Given the description of an element on the screen output the (x, y) to click on. 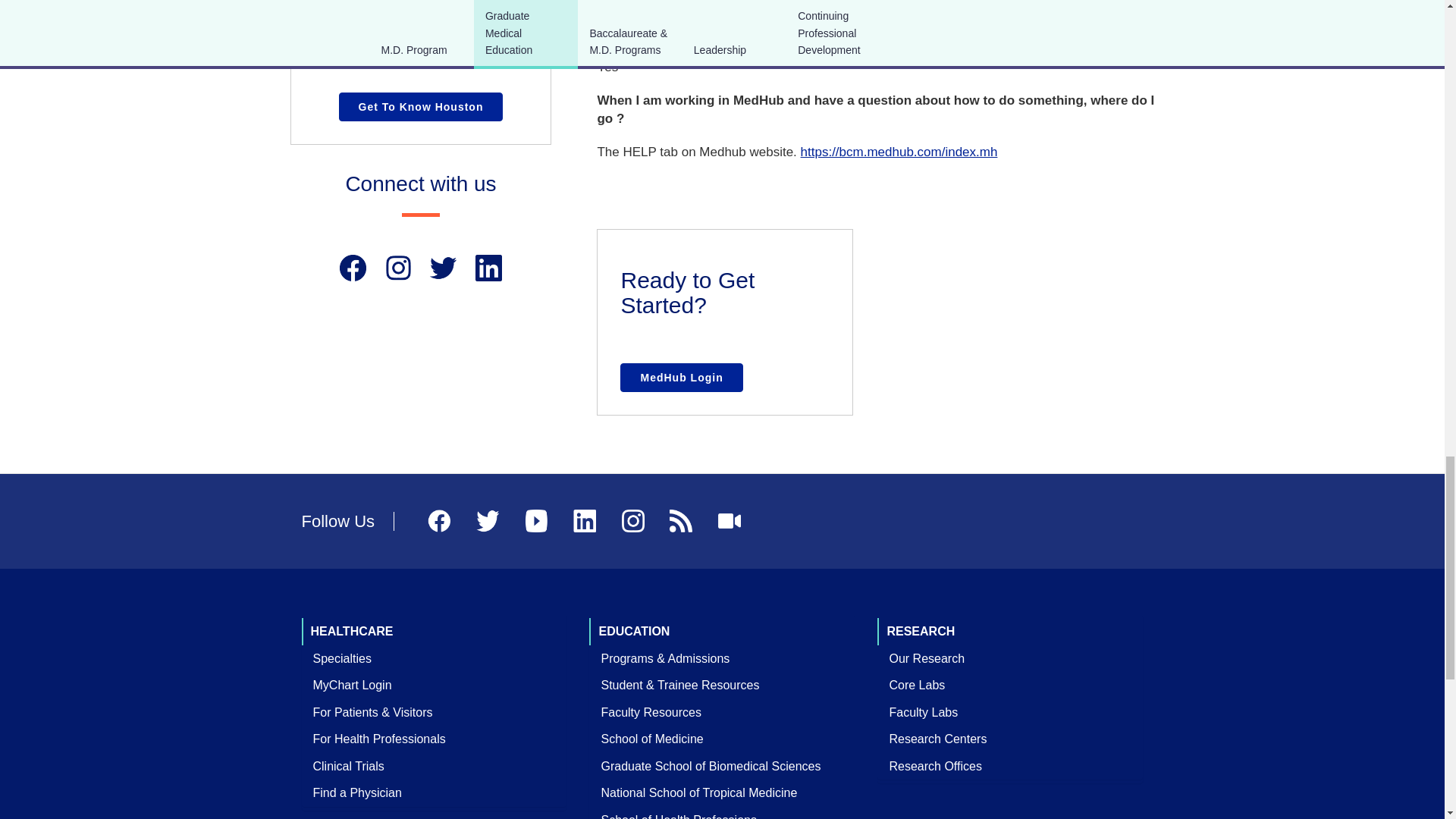
instagram (398, 267)
twitter (443, 267)
facebook (352, 267)
Linkedin (489, 267)
